Given the description of an element on the screen output the (x, y) to click on. 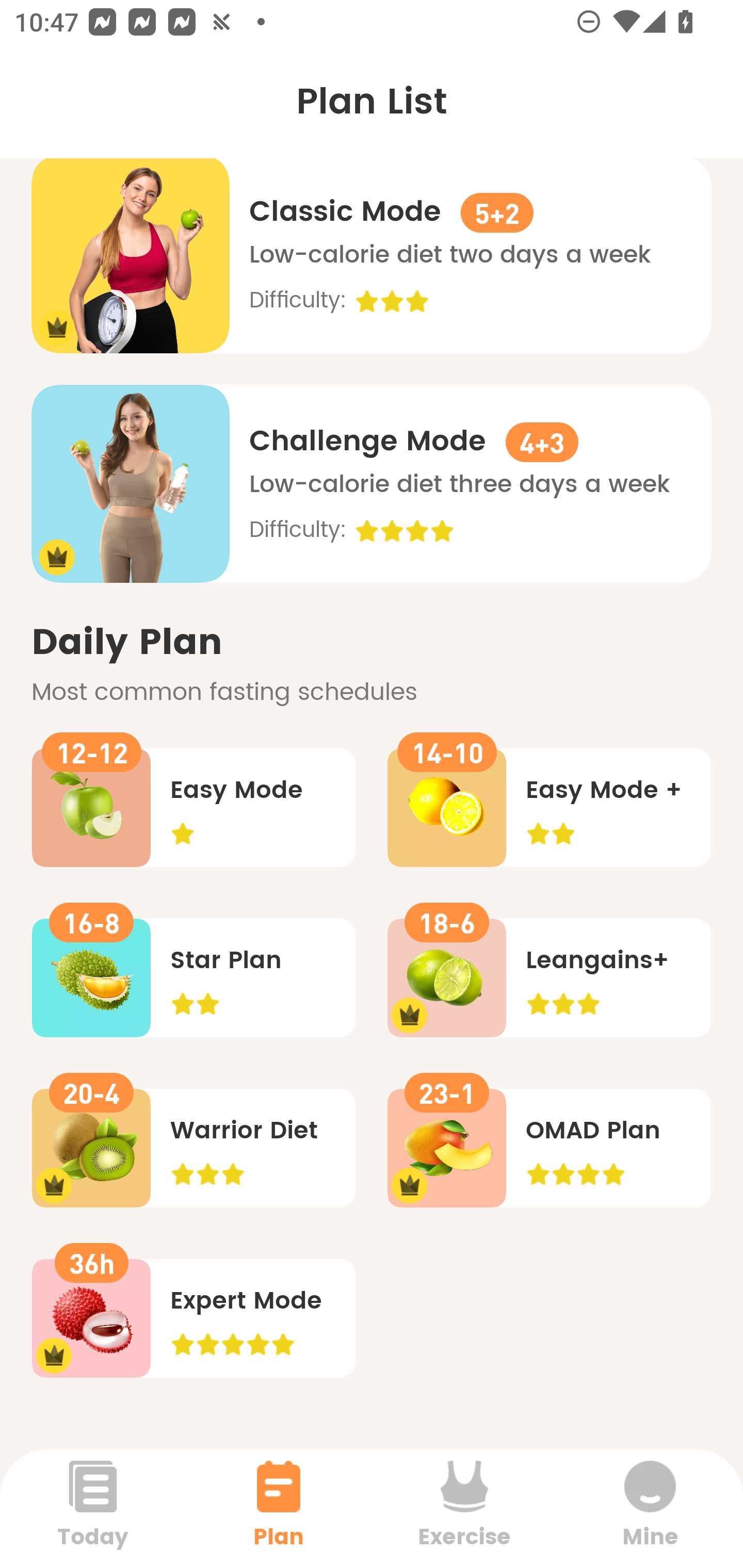
12-12 Easy Mode 1.0 (193, 807)
14-10 Easy Mode + 2.0 (549, 807)
16-8 Star Plan 2.0 (193, 978)
18-6 Leangains+ 3.0 (549, 978)
20-4 Warrior Diet 3.0 (193, 1147)
23-1 OMAD Plan 4.0 (549, 1147)
36h Expert Mode 5.0 (193, 1318)
Today (92, 1508)
Exercise (464, 1508)
Mine (650, 1508)
